Given the description of an element on the screen output the (x, y) to click on. 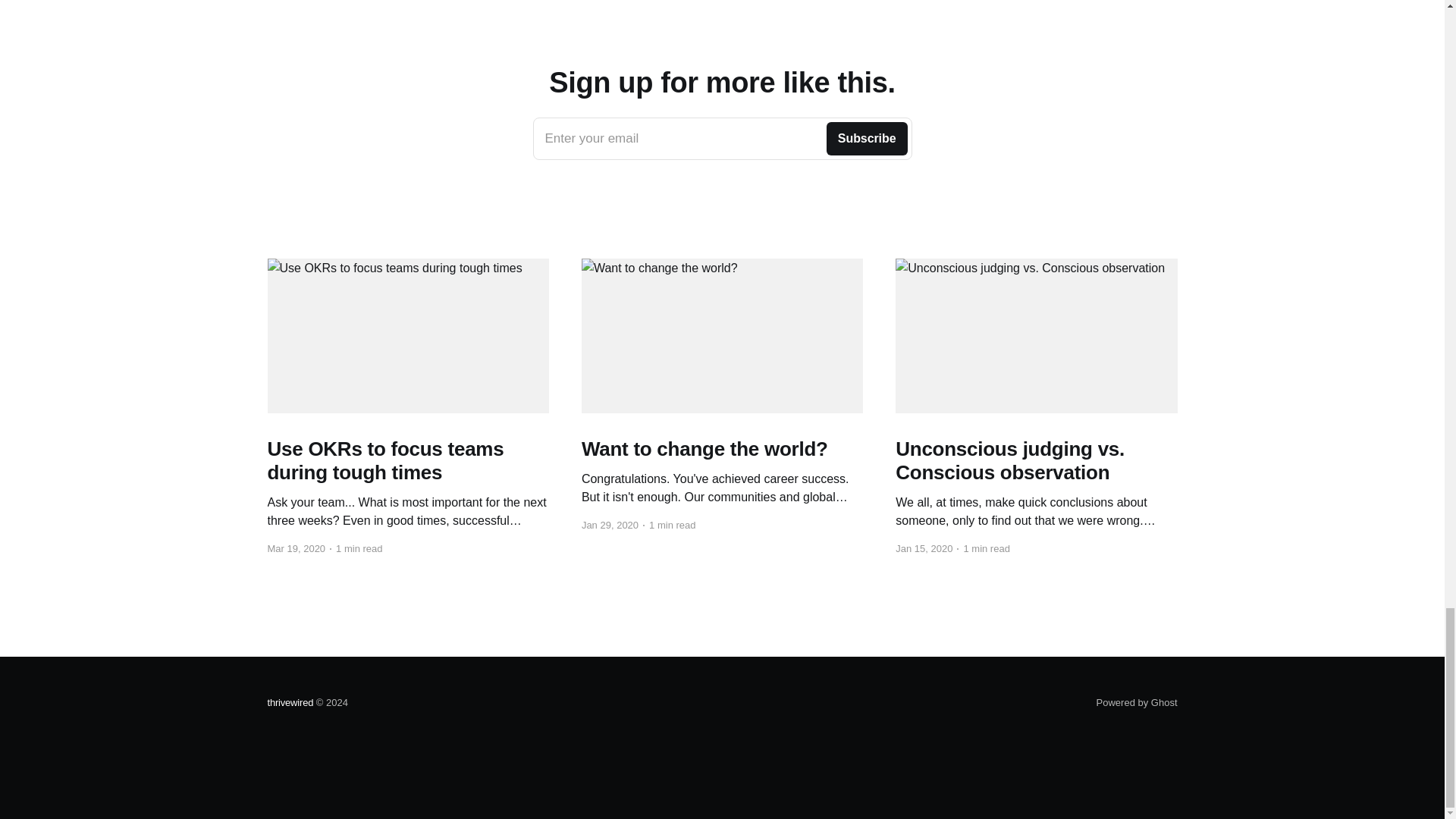
Powered by Ghost (1136, 702)
thrivewired (289, 702)
